Given the description of an element on the screen output the (x, y) to click on. 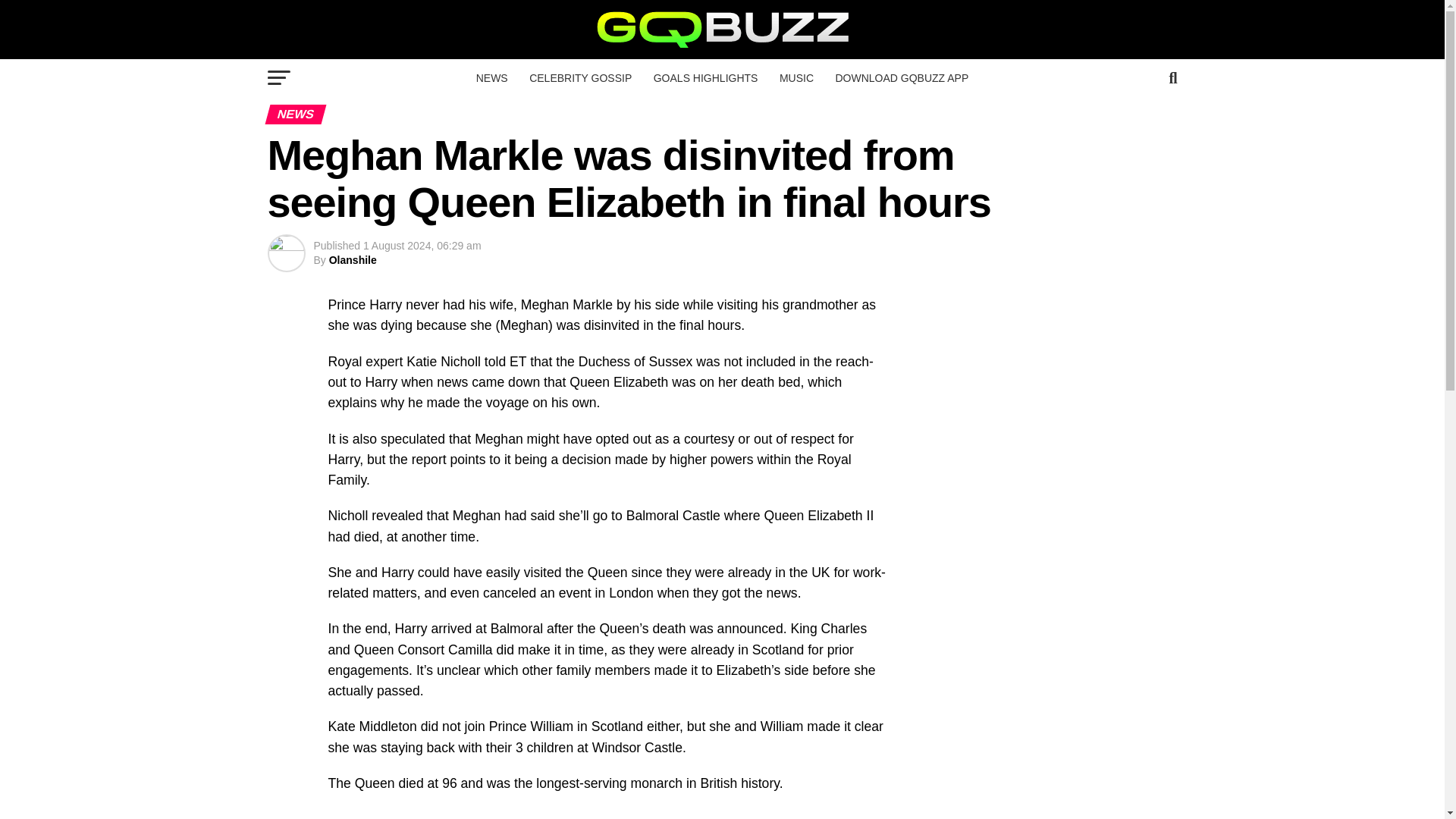
CELEBRITY GOSSIP (579, 77)
MUSIC (796, 77)
Posts by Olanshile (353, 259)
NEWS (491, 77)
DOWNLOAD GQBUZZ APP (900, 77)
GOALS HIGHLIGHTS (706, 77)
Olanshile (353, 259)
